Given the description of an element on the screen output the (x, y) to click on. 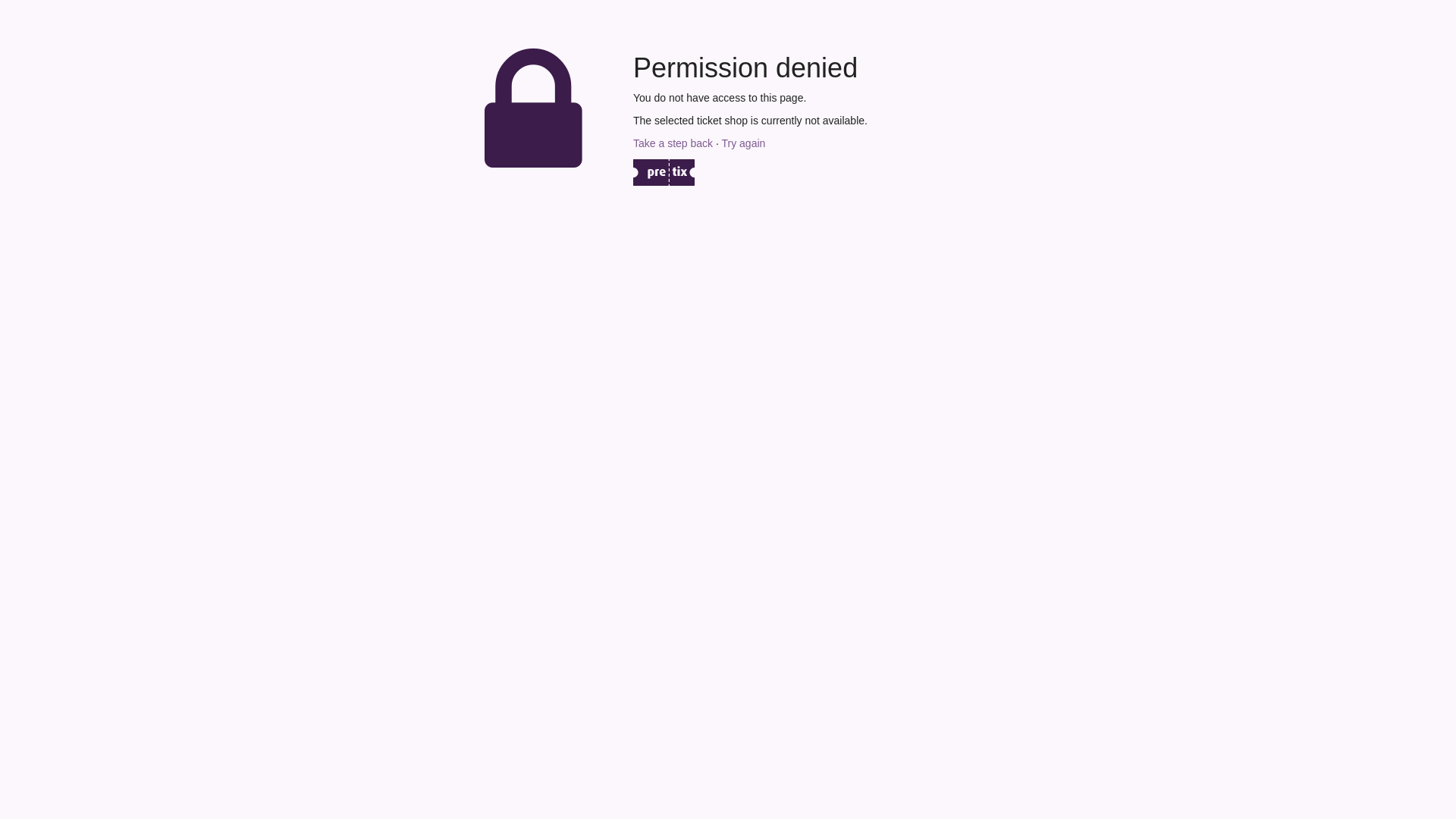
Try again Element type: text (743, 143)
Take a step back Element type: text (672, 143)
